Given the description of an element on the screen output the (x, y) to click on. 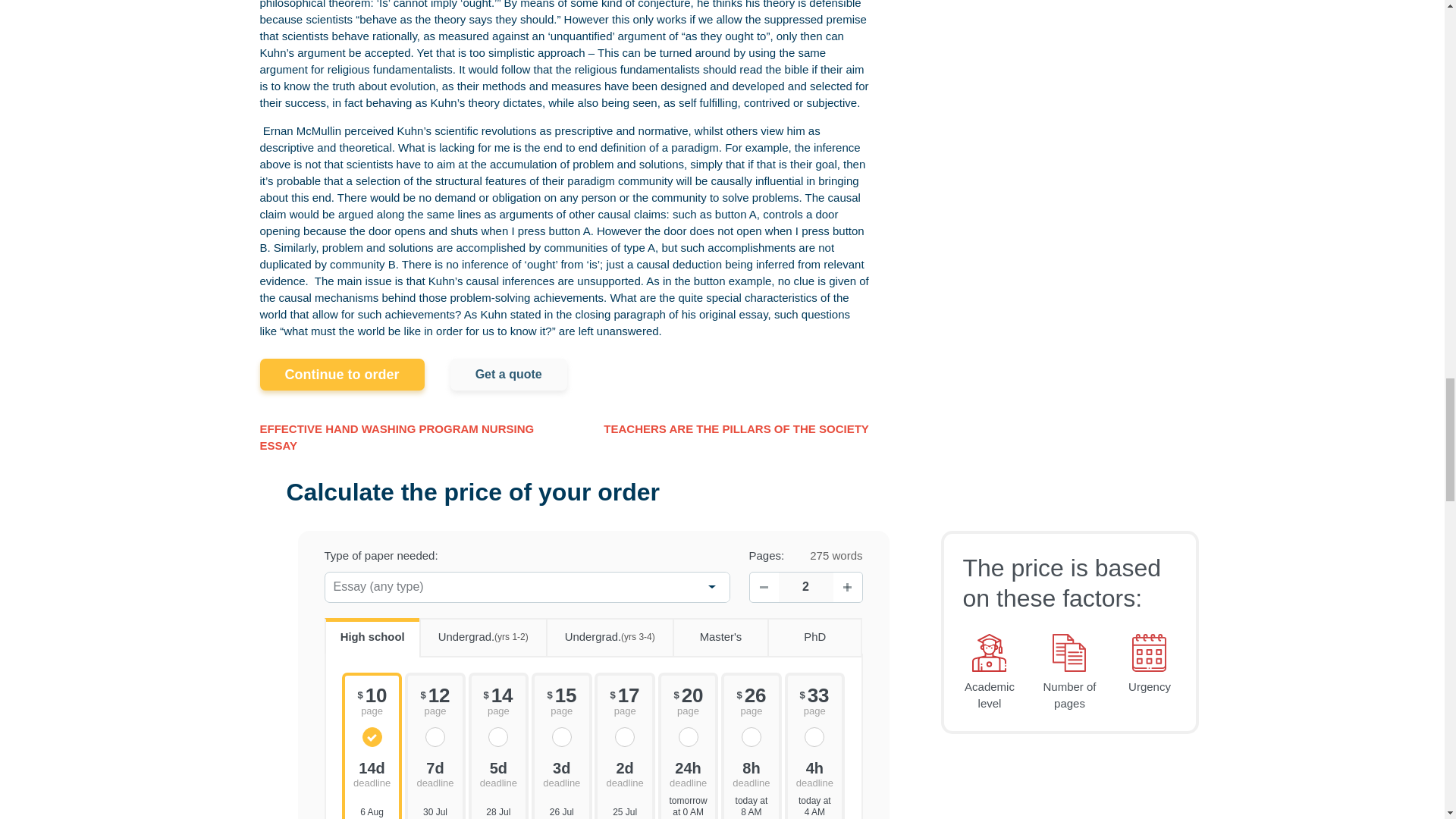
Increase (846, 586)
Get a quote (508, 374)
14 days (372, 772)
2 (804, 586)
2 days (624, 772)
7 days (435, 772)
5 days (499, 772)
EFFECTIVE HAND WASHING PROGRAM NURSING ESSAY (411, 437)
8 hours (751, 772)
Continue to order (341, 374)
24 hours (688, 772)
TEACHERS ARE THE PILLARS OF THE SOCIETY (735, 429)
3 days (561, 772)
Decrease (763, 586)
4 hours (815, 772)
